Given the description of an element on the screen output the (x, y) to click on. 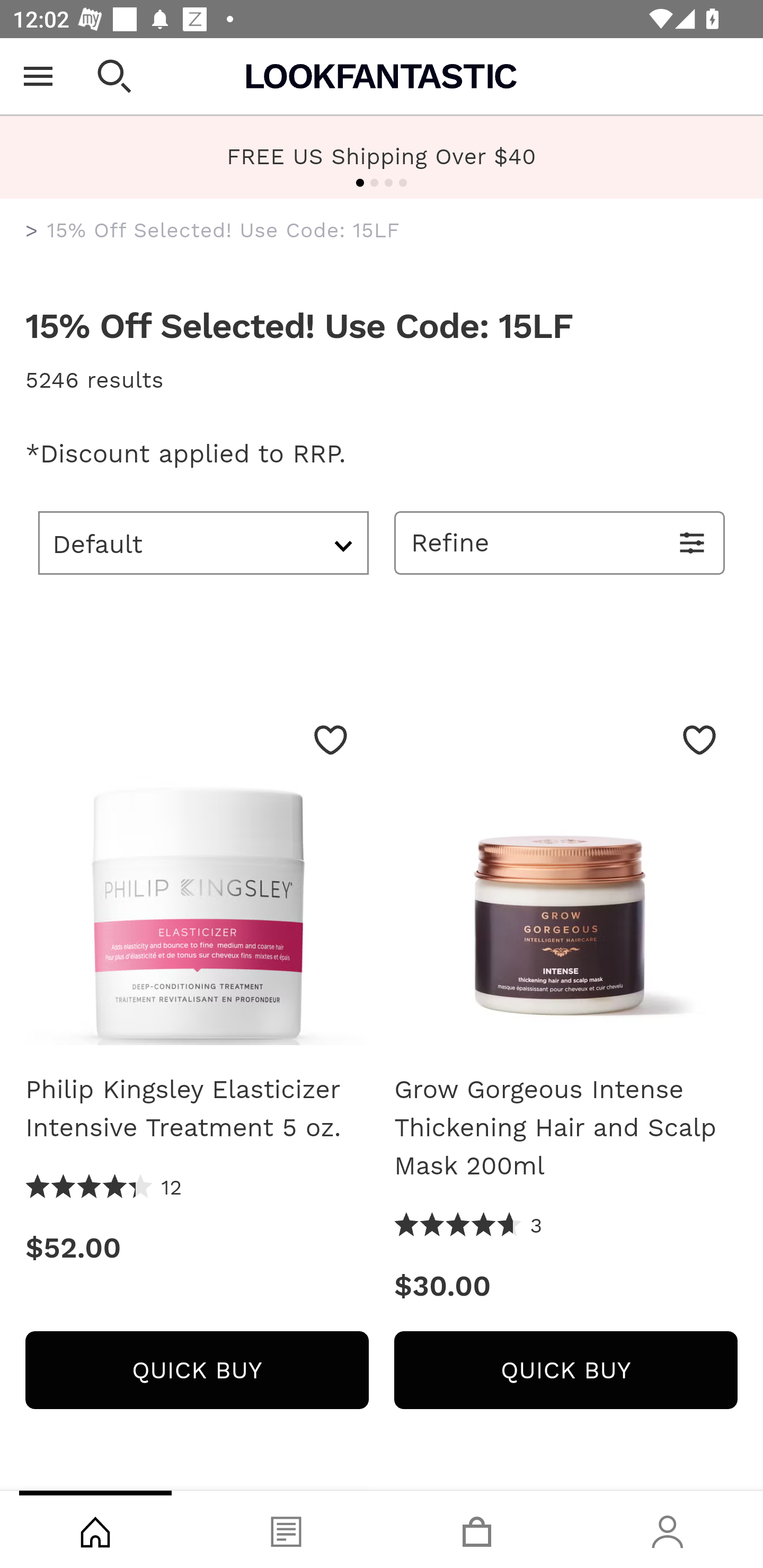
Open Menu (38, 75)
Open search (114, 75)
Lookfantastic USA (381, 75)
FREE US Shipping Over $40 (381, 157)
FREE US Shipping Over $40 (381, 155)
us.lookfantastic (32, 230)
Default (203, 542)
Refine (559, 542)
Save to Wishlist (330, 740)
Save to Wishlist (698, 740)
4.33 Stars 12 Reviews (104, 1187)
4.67 Stars 3 Reviews (468, 1225)
Price: $52.00 (196, 1247)
Price: $30.00 (565, 1286)
Shop, tab, 1 of 4 (95, 1529)
Blog, tab, 2 of 4 (285, 1529)
Basket, tab, 3 of 4 (476, 1529)
Account, tab, 4 of 4 (667, 1529)
